Given the description of an element on the screen output the (x, y) to click on. 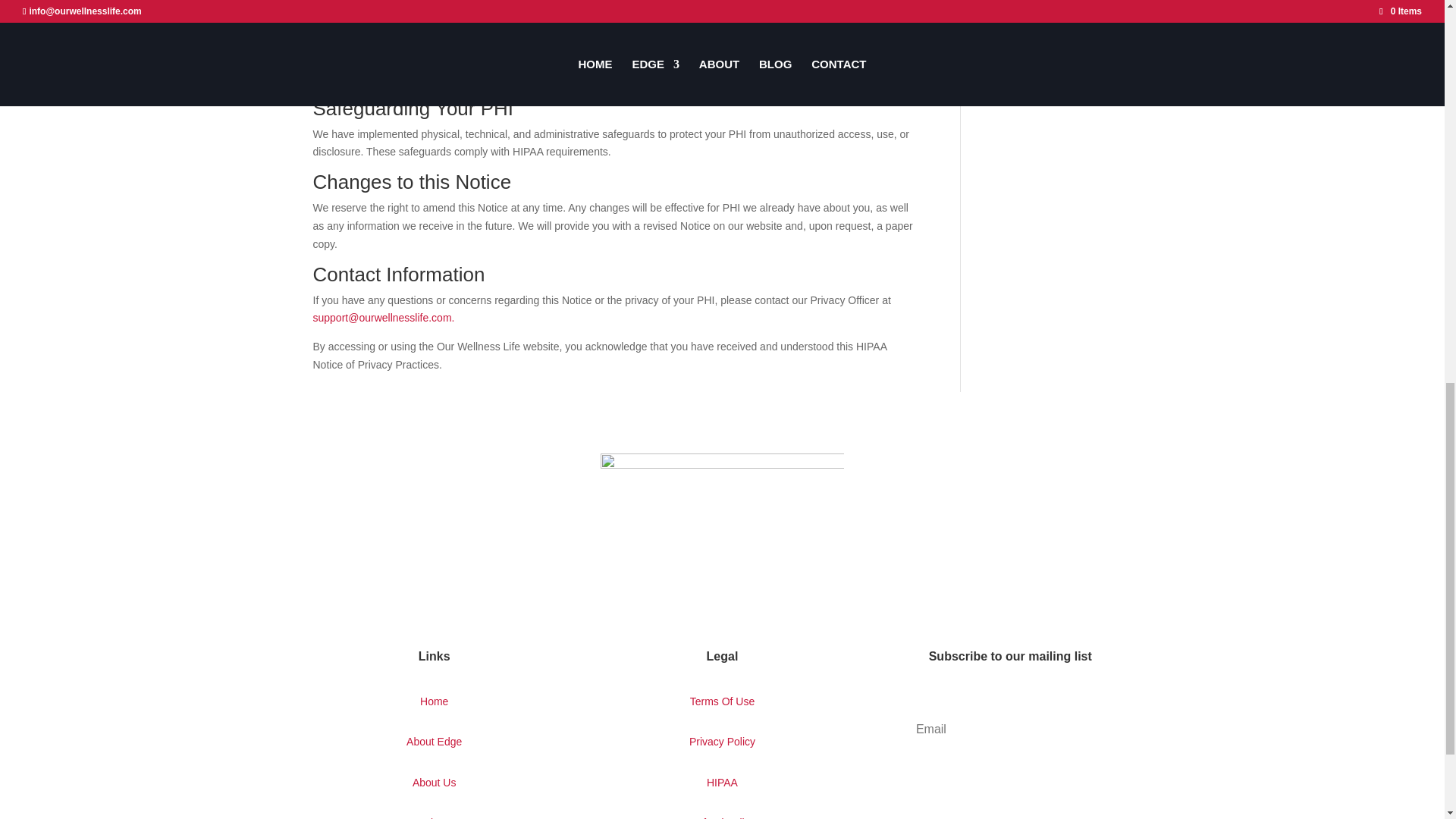
Blog (434, 817)
Privacy Policy (721, 741)
HIPAA (722, 782)
About Us (434, 782)
About Edge (433, 741)
Subscribe (1009, 776)
wellness life logo (721, 531)
Home (434, 701)
Refund Policy (721, 817)
Terms Of Use (722, 701)
